Given the description of an element on the screen output the (x, y) to click on. 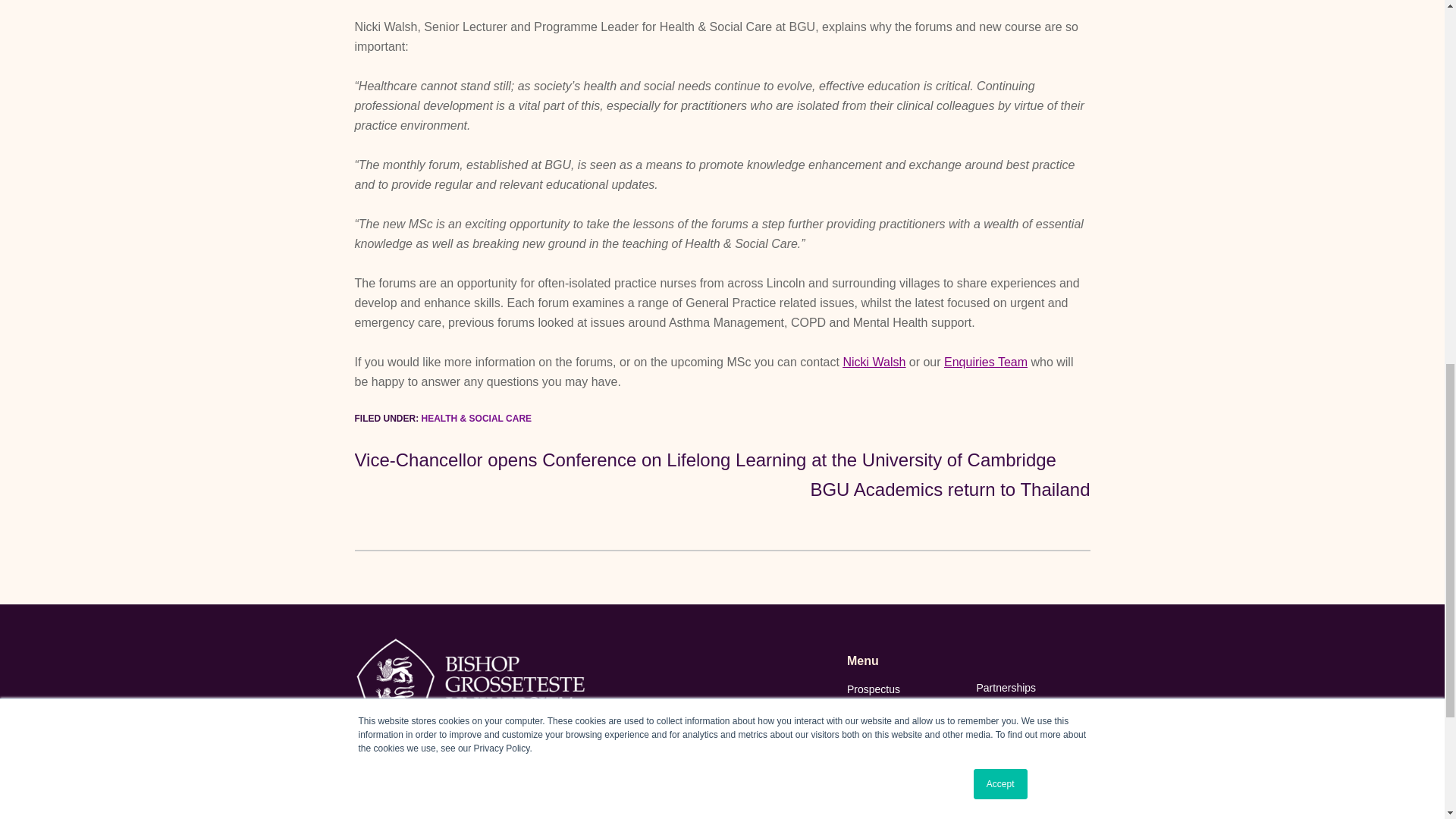
About BGU (903, 790)
Bishop Grosseteste University (471, 681)
Open Days (903, 709)
Student Life (903, 750)
Enquiries Team (985, 361)
Online Payments (903, 770)
Courses (903, 729)
Nicki Walsh (874, 361)
BGU Academics return to Thailand (949, 489)
Governance (903, 811)
Prospectus (903, 688)
Menu (903, 661)
Partnerships (1032, 688)
